Given the description of an element on the screen output the (x, y) to click on. 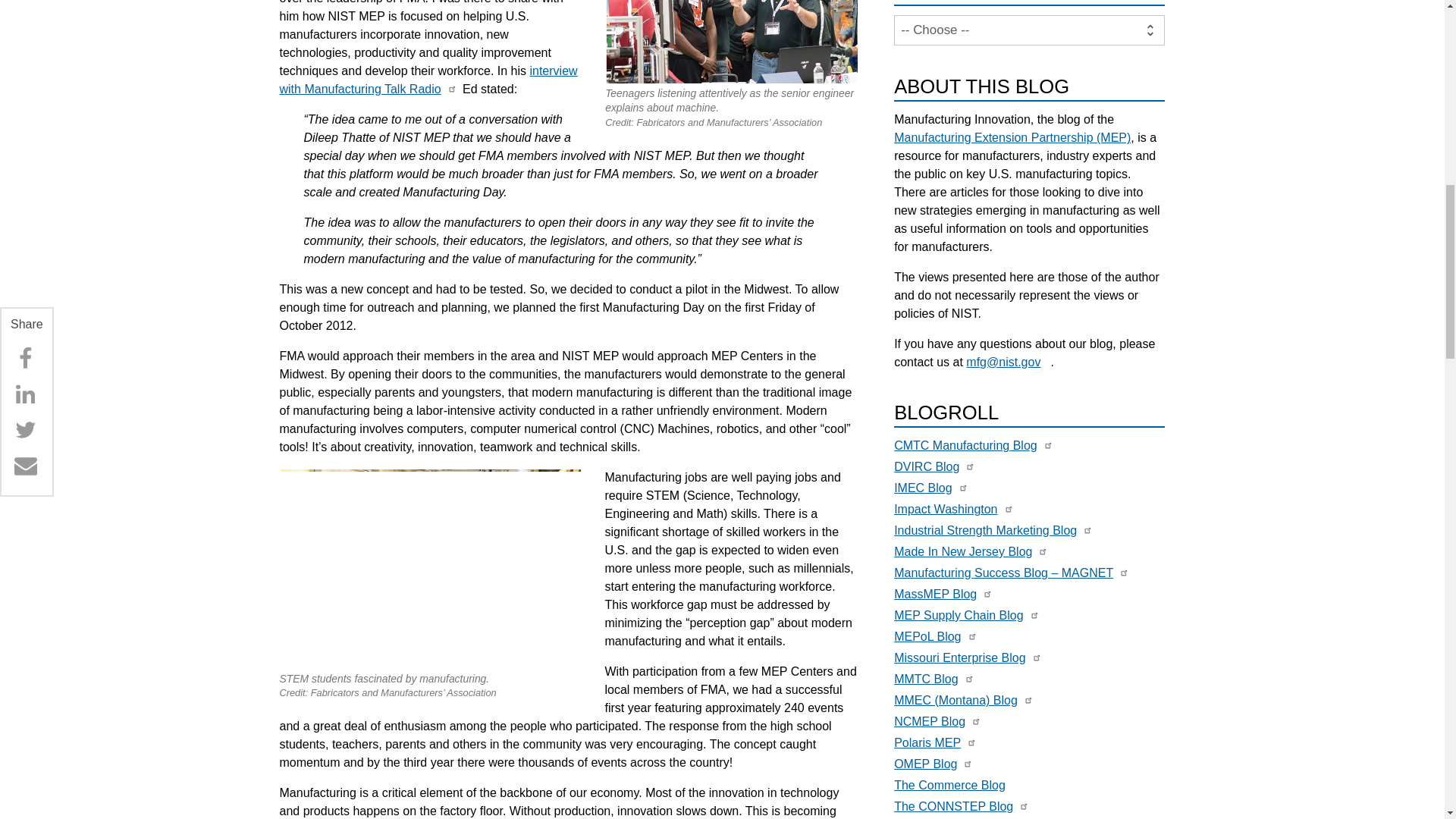
-- Choose -- (1028, 30)
interview with Manufacturing Talk Radio (427, 79)
